Given the description of an element on the screen output the (x, y) to click on. 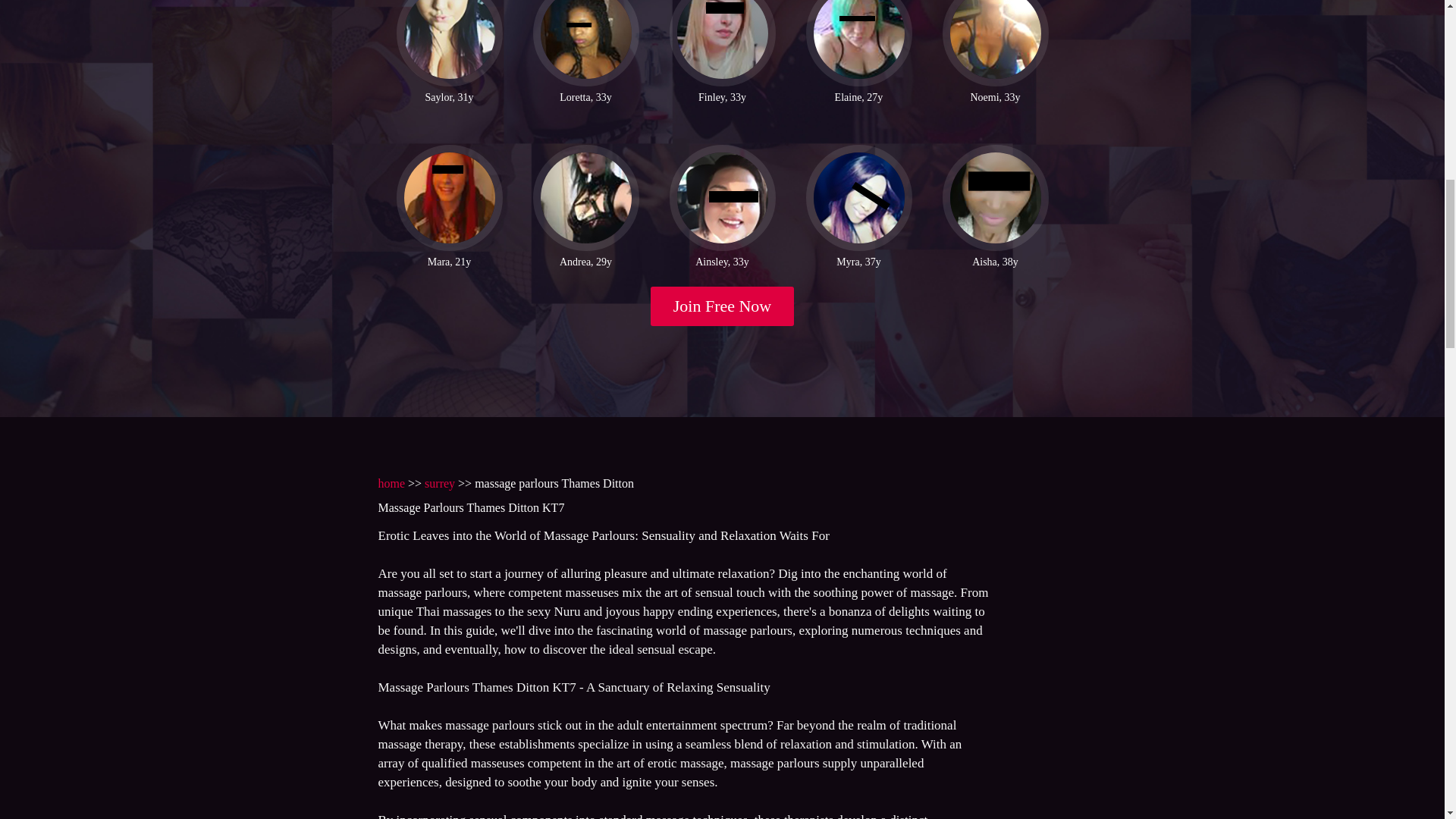
Join (722, 305)
surrey (439, 482)
Join Free Now (722, 305)
home (390, 482)
